Given the description of an element on the screen output the (x, y) to click on. 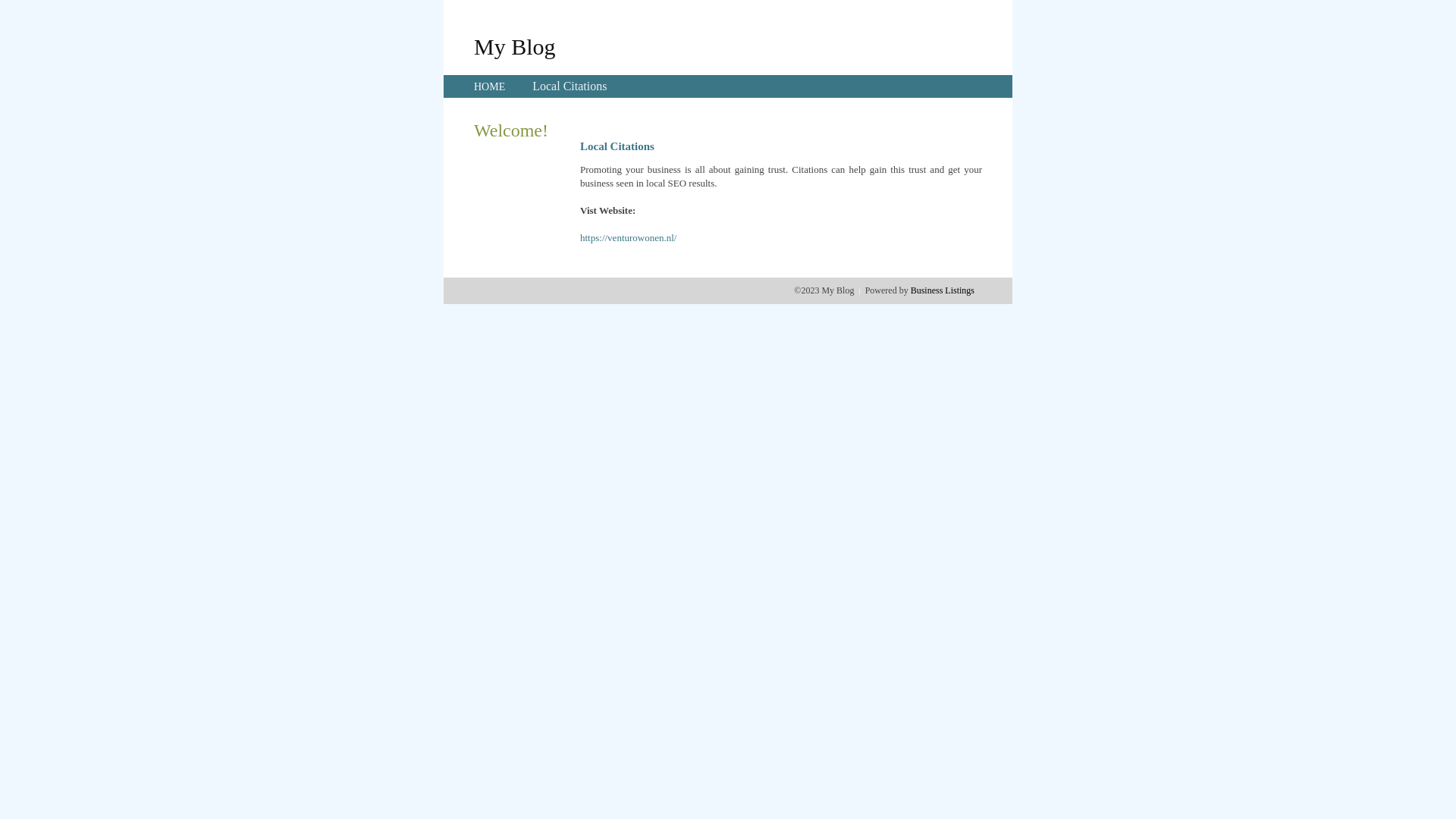
My Blog Element type: text (514, 46)
https://venturowonen.nl/ Element type: text (628, 237)
HOME Element type: text (489, 86)
Local Citations Element type: text (569, 85)
Business Listings Element type: text (942, 290)
